Given the description of an element on the screen output the (x, y) to click on. 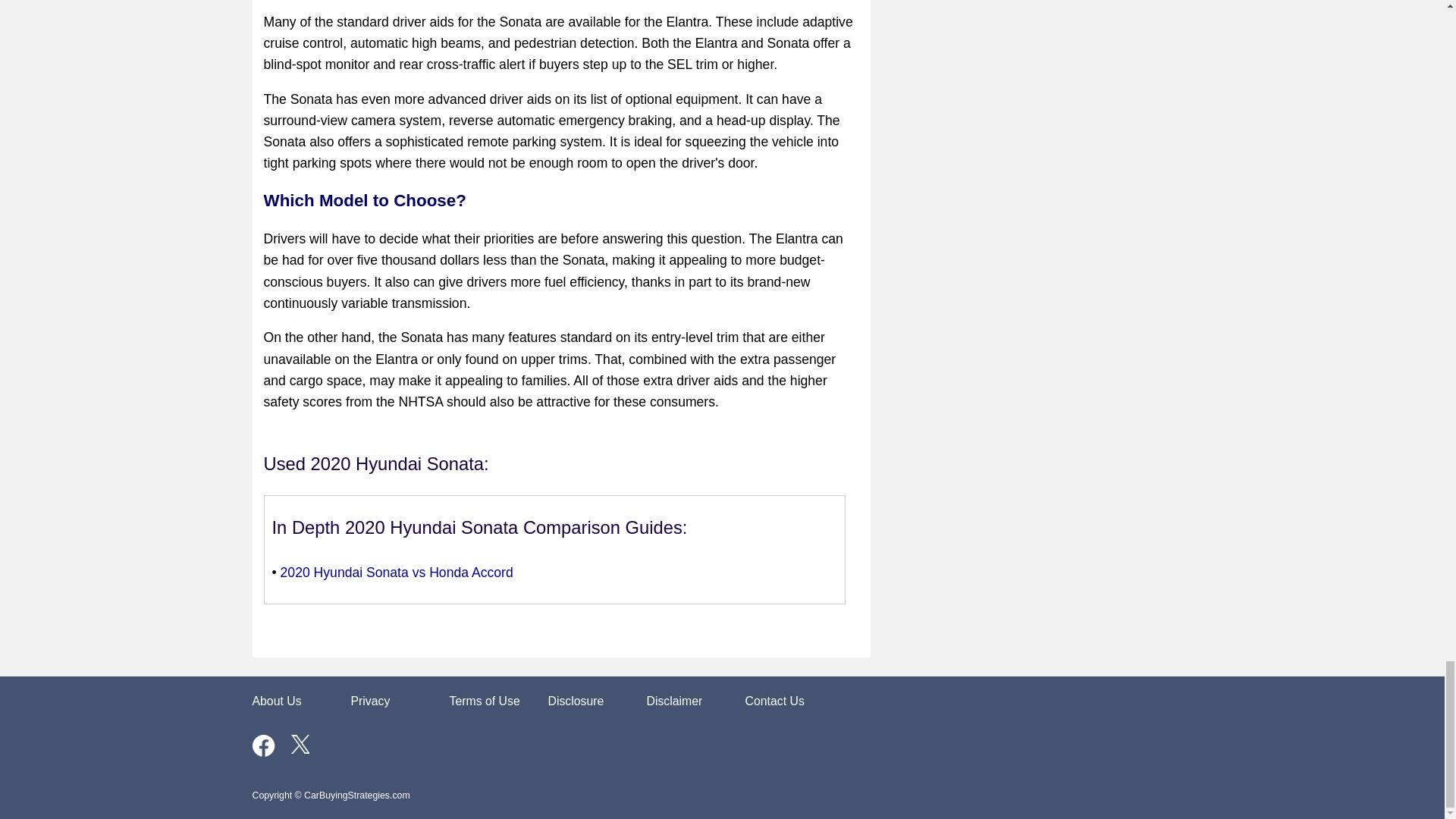
Contact Us (773, 700)
2020 Hyundai Sonata vs Honda Accord (397, 572)
Privacy (370, 700)
Terms of Use (483, 700)
Disclosure (575, 700)
About Us (276, 700)
Disclaimer (673, 700)
